Given the description of an element on the screen output the (x, y) to click on. 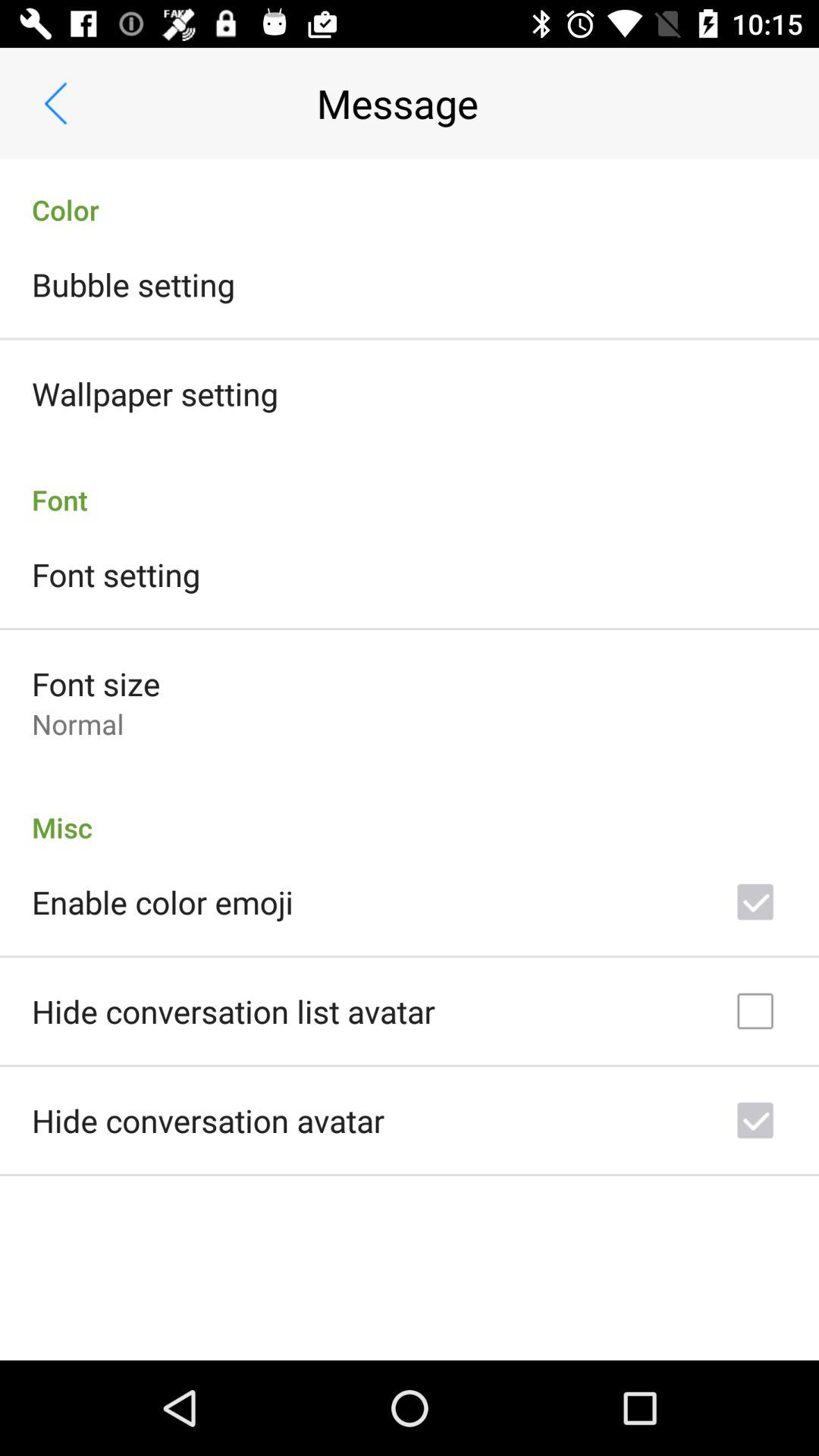
click item above hide conversation list icon (162, 901)
